Given the description of an element on the screen output the (x, y) to click on. 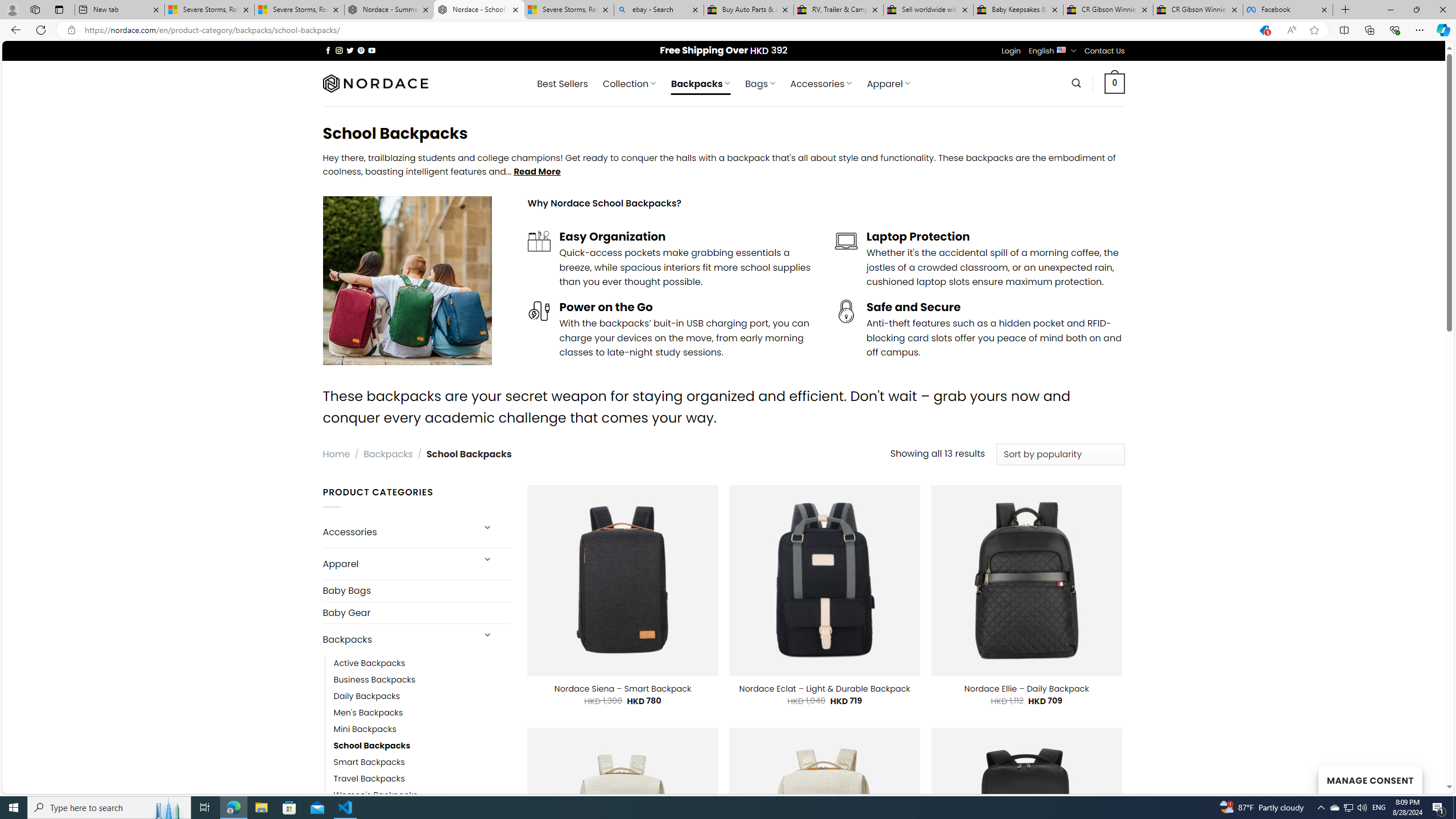
Mini Backpacks (422, 729)
Business Backpacks (422, 679)
English (1061, 49)
MANAGE CONSENT (1369, 779)
Active Backpacks (422, 663)
RV, Trailer & Camper Steps & Ladders for sale | eBay (838, 9)
Buy Auto Parts & Accessories | eBay (747, 9)
Travel Backpacks (368, 778)
